Given the description of an element on the screen output the (x, y) to click on. 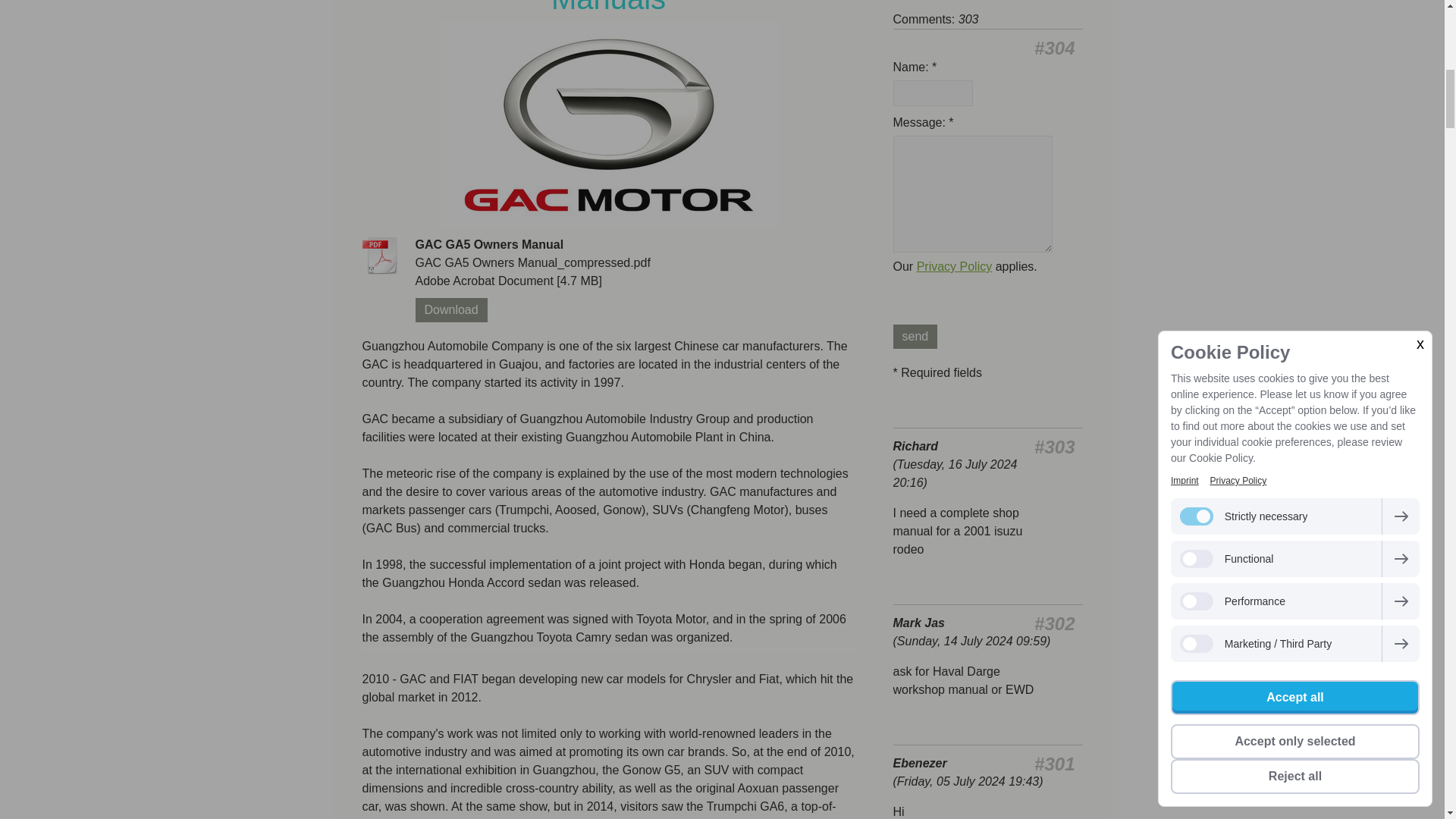
send (915, 336)
